Given the description of an element on the screen output the (x, y) to click on. 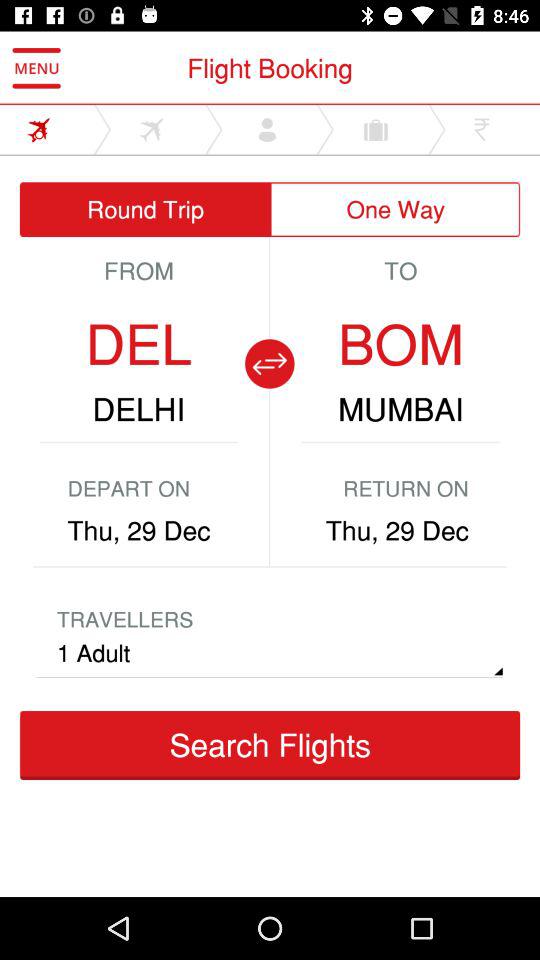
turn off the mumbai icon (400, 409)
